Given the description of an element on the screen output the (x, y) to click on. 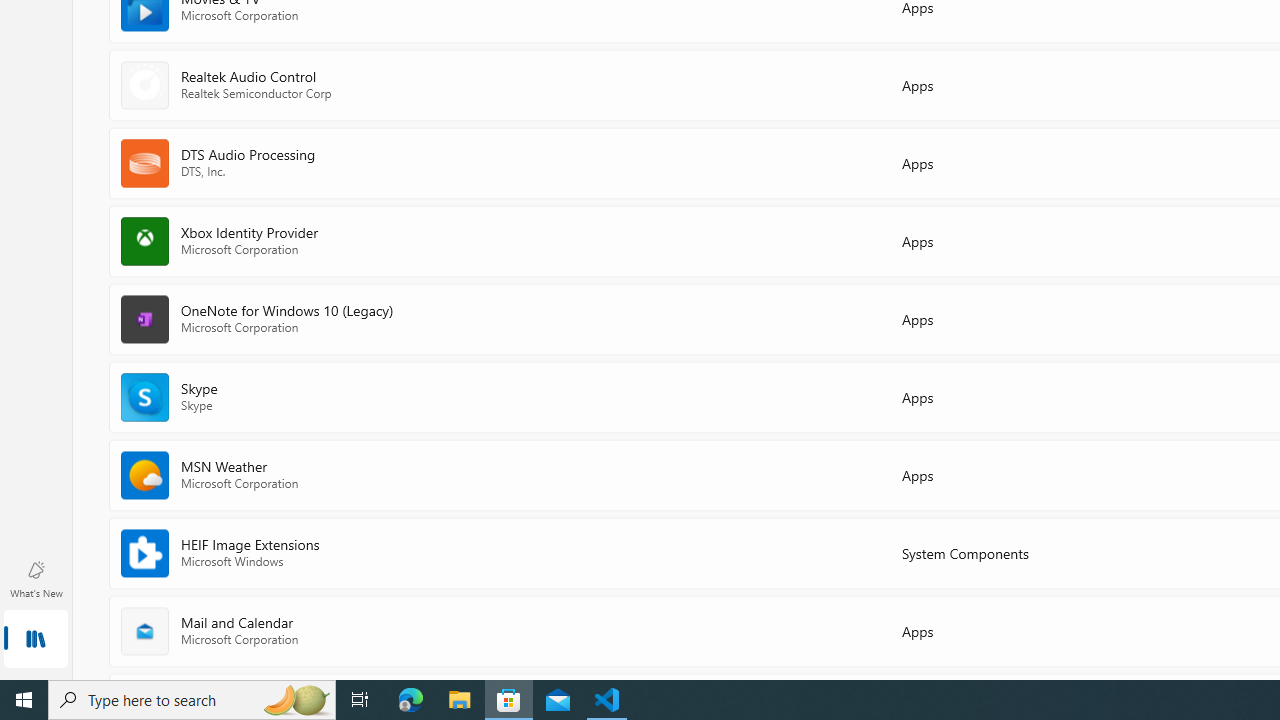
What's New (35, 578)
Library (35, 640)
